Given the description of an element on the screen output the (x, y) to click on. 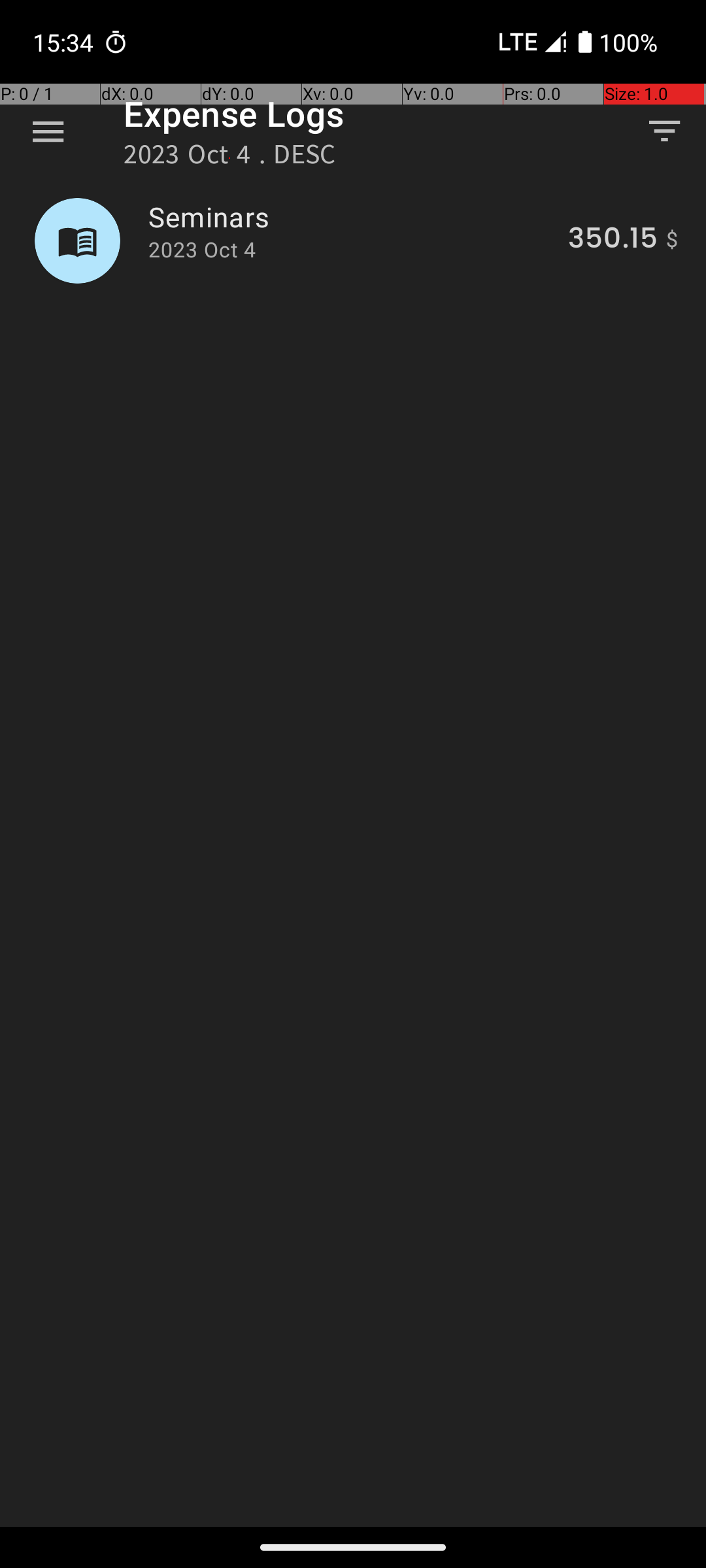
2023 Oct 4 . DESC Element type: android.widget.TextView (229, 157)
Filter Element type: android.widget.TextView (664, 131)
Seminars Element type: android.widget.TextView (350, 216)
2023 Oct 4 Element type: android.widget.TextView (201, 249)
350.15 Element type: android.widget.TextView (612, 240)
